Given the description of an element on the screen output the (x, y) to click on. 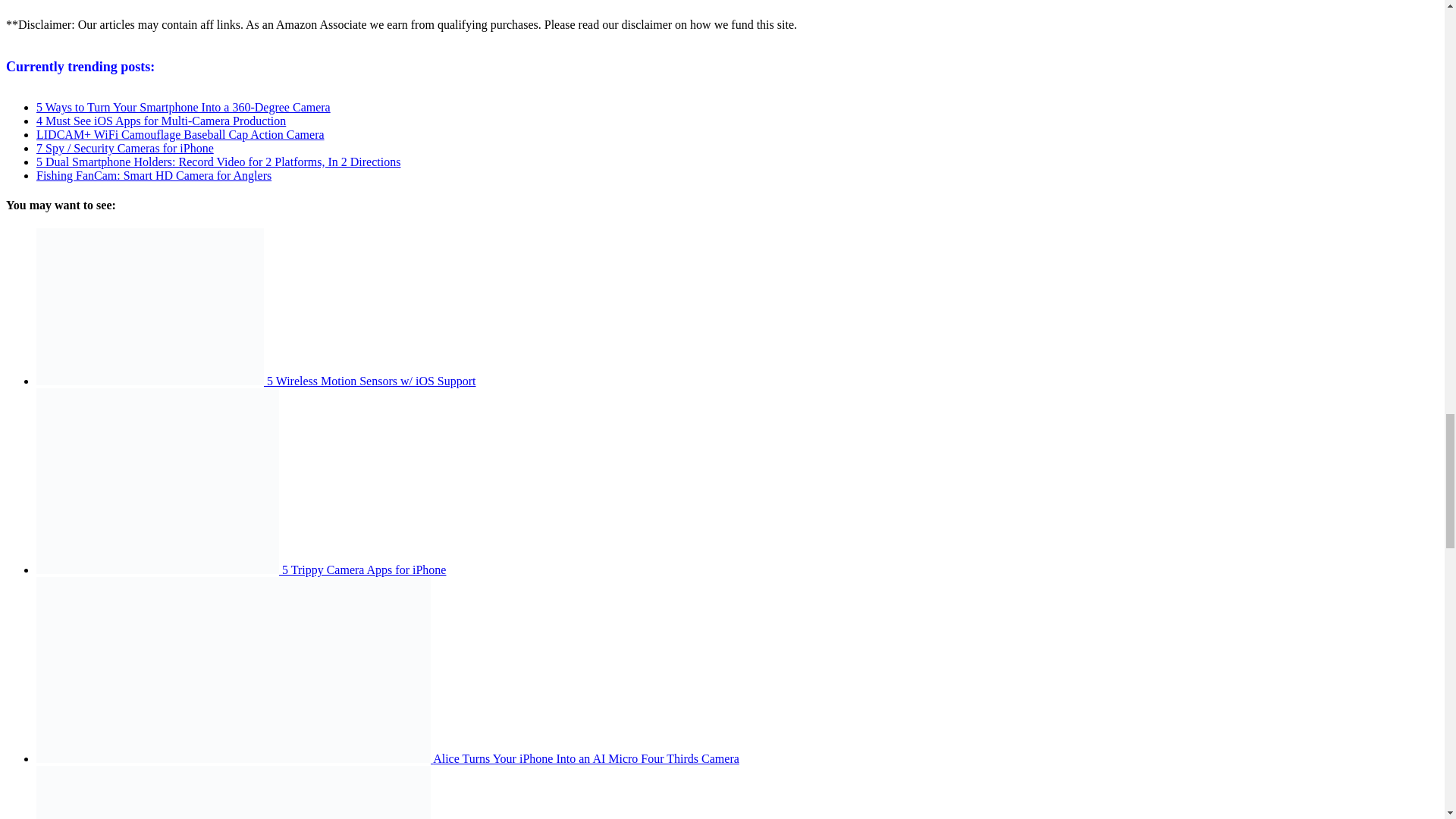
4 Must See iOS Apps for Multi-Camera Production (160, 120)
5 Ways to Turn Your Smartphone Into a 360-Degree Camera (183, 106)
Fishing FanCam: Smart HD Camera for Anglers (153, 174)
